Given the description of an element on the screen output the (x, y) to click on. 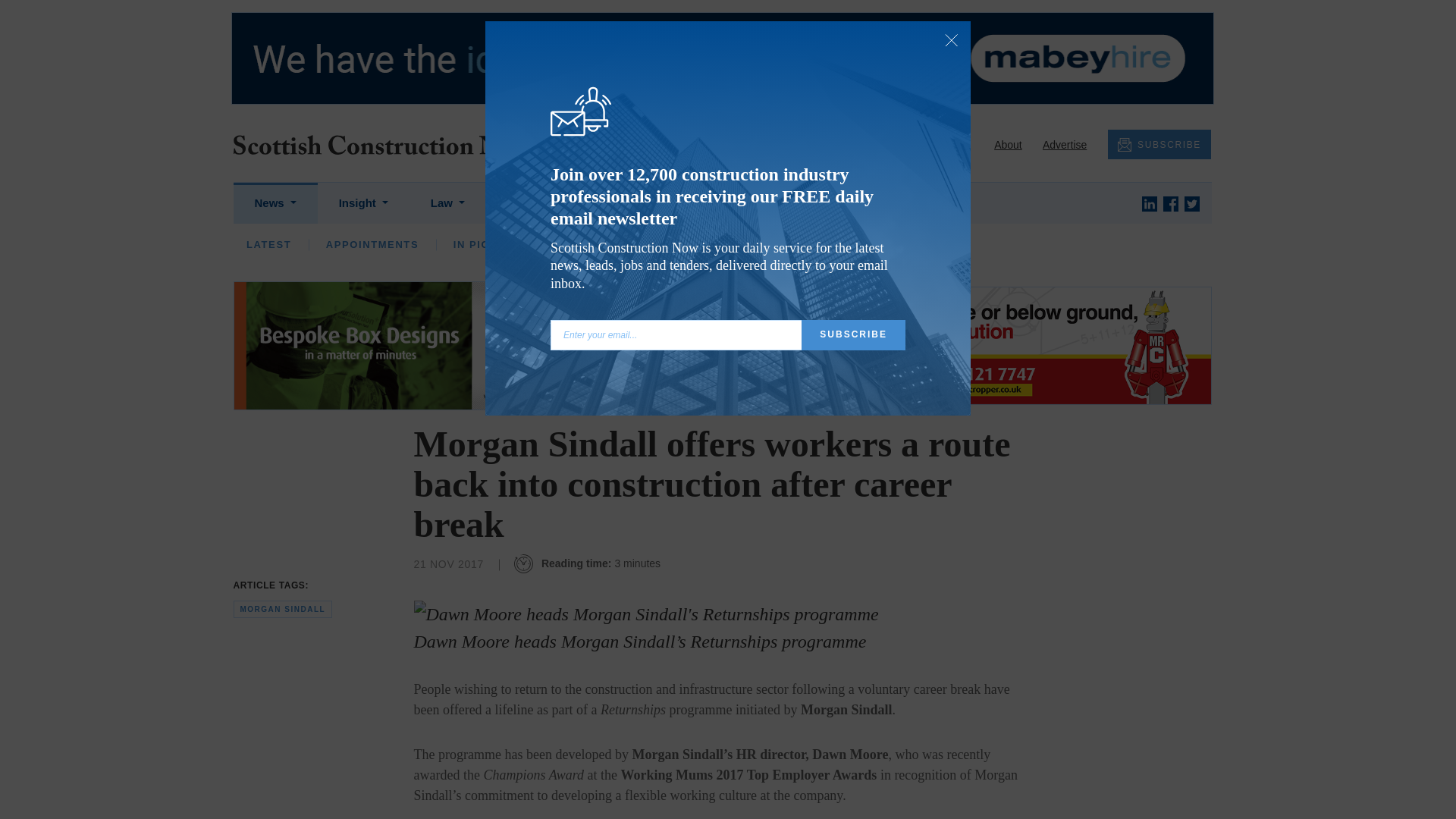
JUST A MINUTE (1138, 252)
About (1008, 144)
AND FINALLY (602, 244)
OPINION (523, 251)
Plant (527, 203)
APPOINTMENTS (456, 244)
INTERVIEWS (620, 251)
LATEST (268, 244)
COMPANY PROFILES (1002, 252)
News (274, 203)
CONSTRUCTION LEADERS (373, 252)
CIOB COLUMN (716, 252)
Jobs (603, 203)
OPINION (350, 244)
CASES (429, 244)
